Given the description of an element on the screen output the (x, y) to click on. 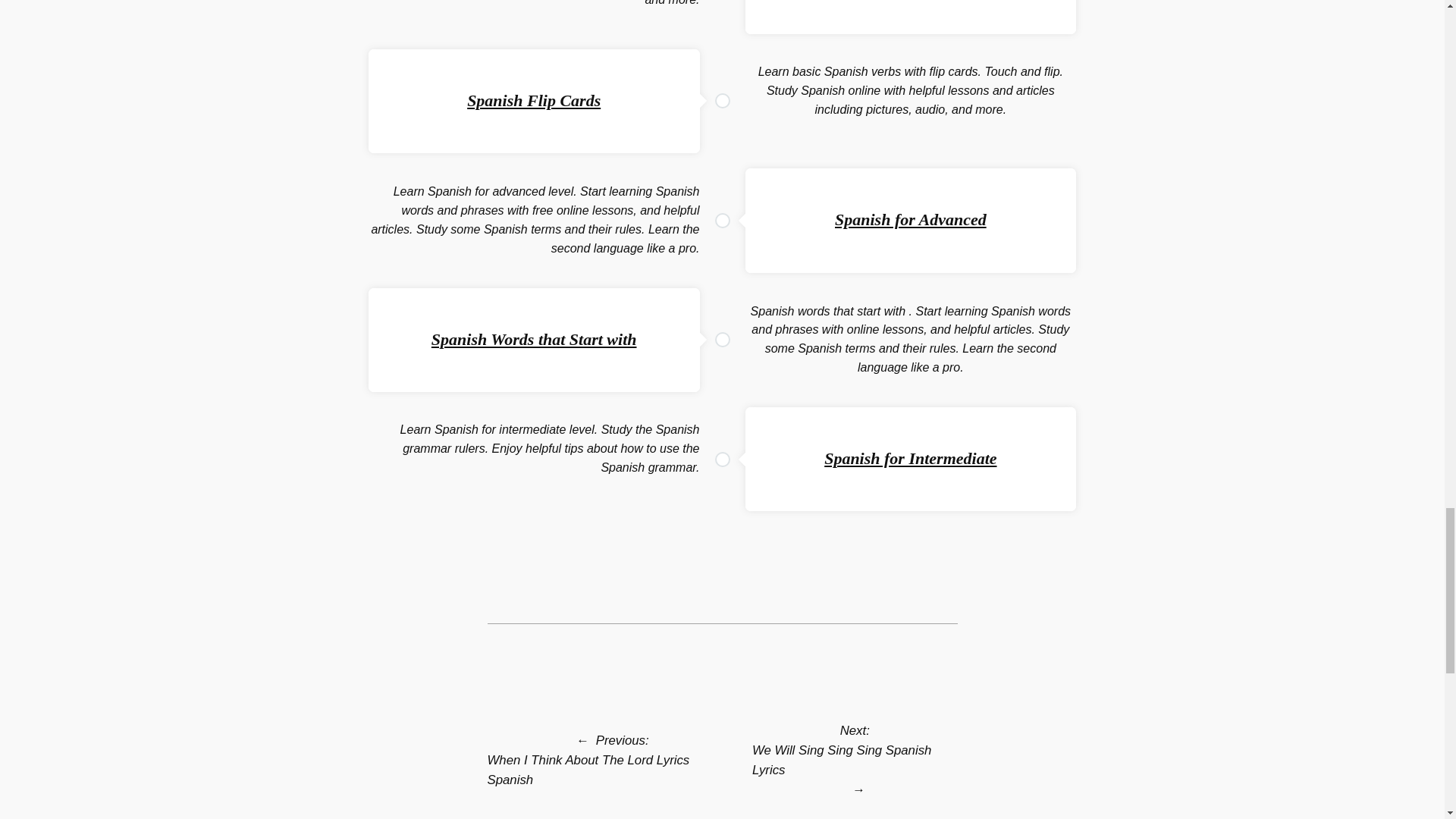
Spanish for Advanced (910, 219)
Previous: When I Think About The Lord Lyrics Spanish (611, 760)
Spanish Words that Start with (533, 339)
Next: We Will Sing Sing Sing Spanish Lyrics (855, 750)
Spanish for Intermediate (909, 457)
Spanish Flip Cards (533, 99)
